Given the description of an element on the screen output the (x, y) to click on. 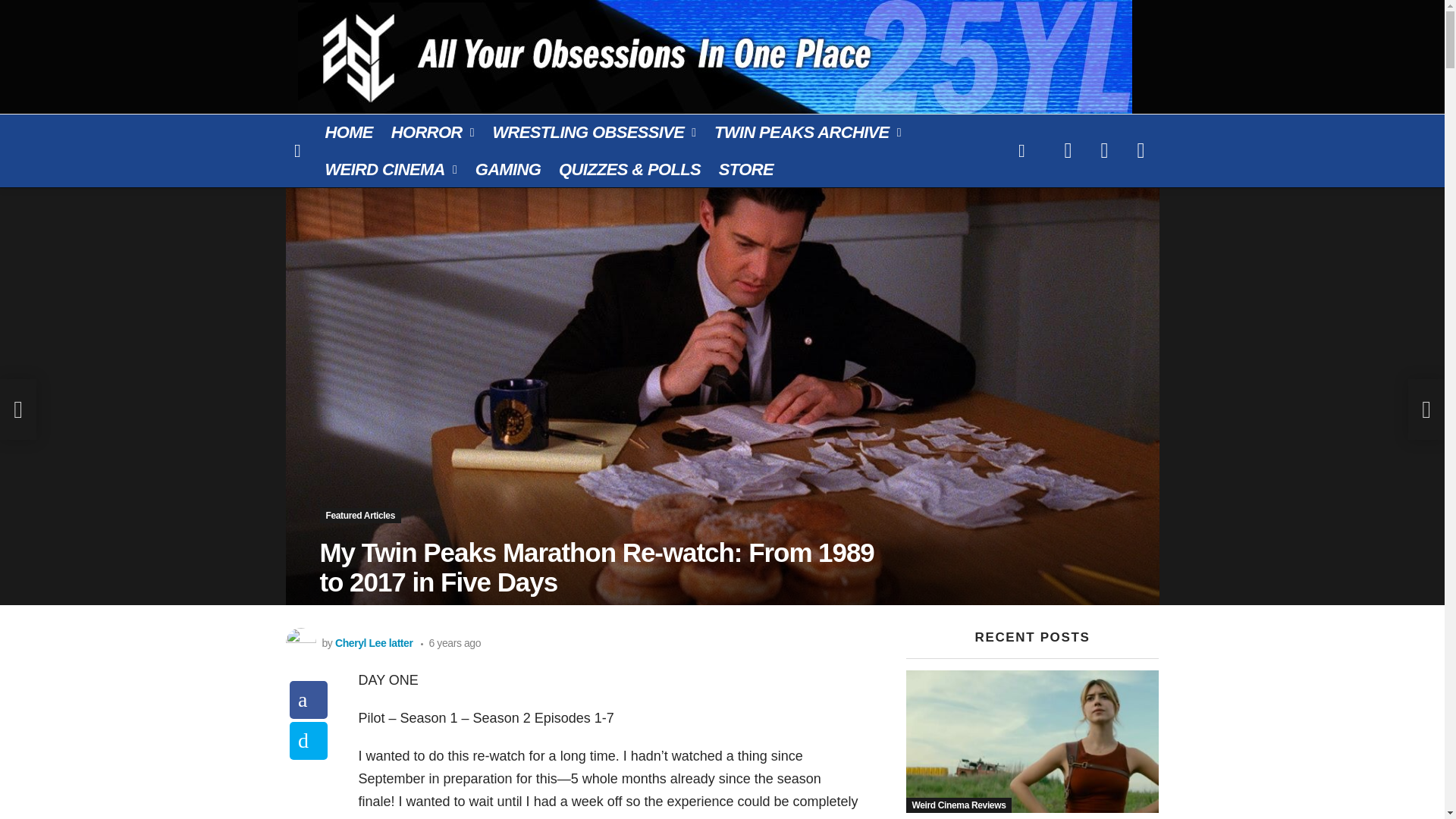
HOME (348, 131)
TWIN PEAKS ARCHIVE (807, 131)
facebook (1067, 150)
Menu (296, 150)
Share on Tweet (308, 740)
February 18, 2018, 9:00 pm (450, 643)
HORROR (432, 131)
WEIRD CINEMA (390, 169)
Share on Share (308, 699)
WRESTLING OBSESSIVE (593, 131)
STORE (746, 169)
Posts by Cheryl Lee latter (373, 643)
GAMING (508, 169)
